Given the description of an element on the screen output the (x, y) to click on. 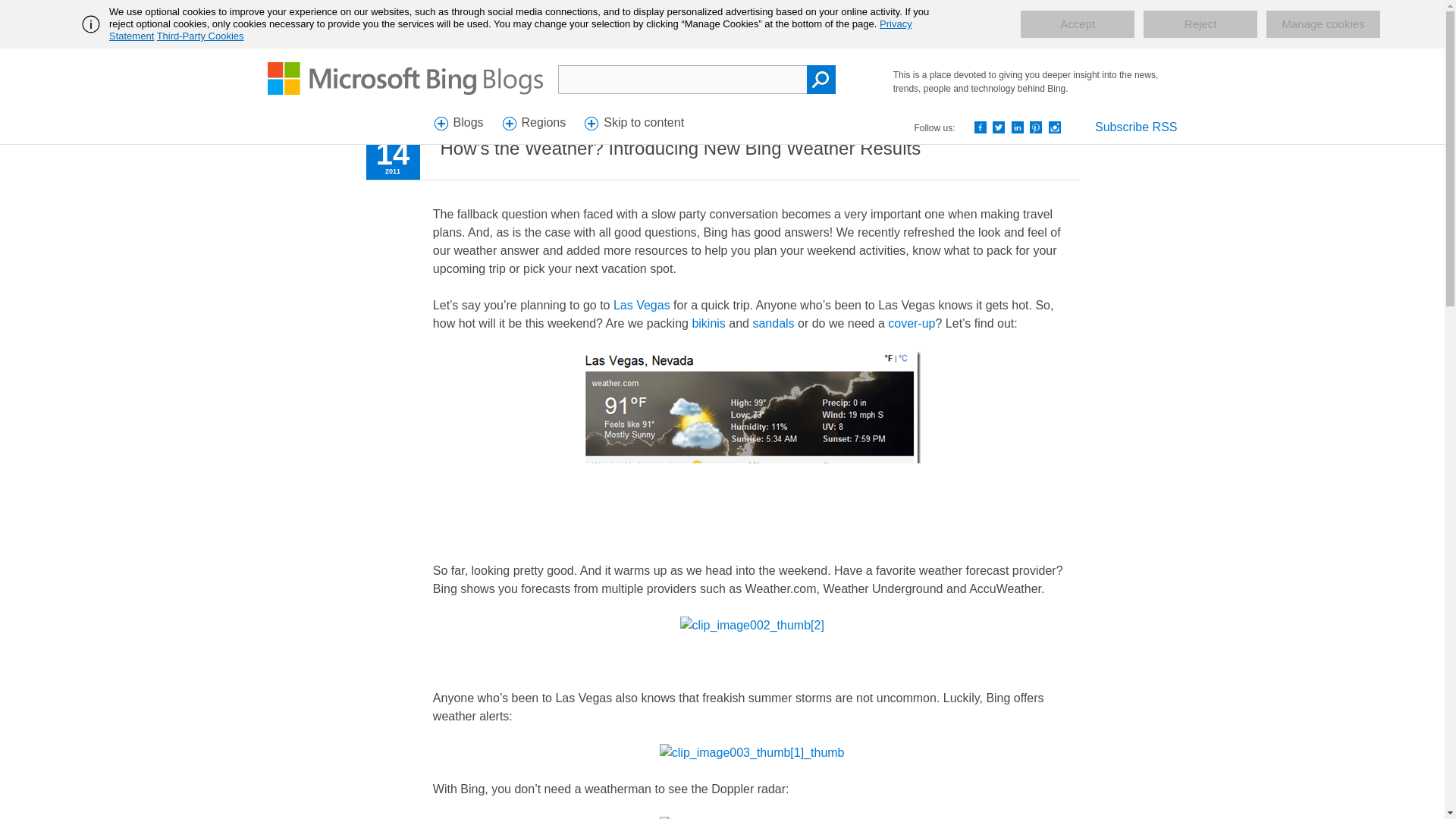
Third-Party Cookies (200, 35)
cover-up (911, 323)
Regions (536, 123)
Privacy Statement (510, 29)
Subscribe RSS (1135, 126)
Accept (1077, 23)
Search (820, 79)
bikinis (708, 323)
Search (820, 79)
Search (820, 79)
